Given the description of an element on the screen output the (x, y) to click on. 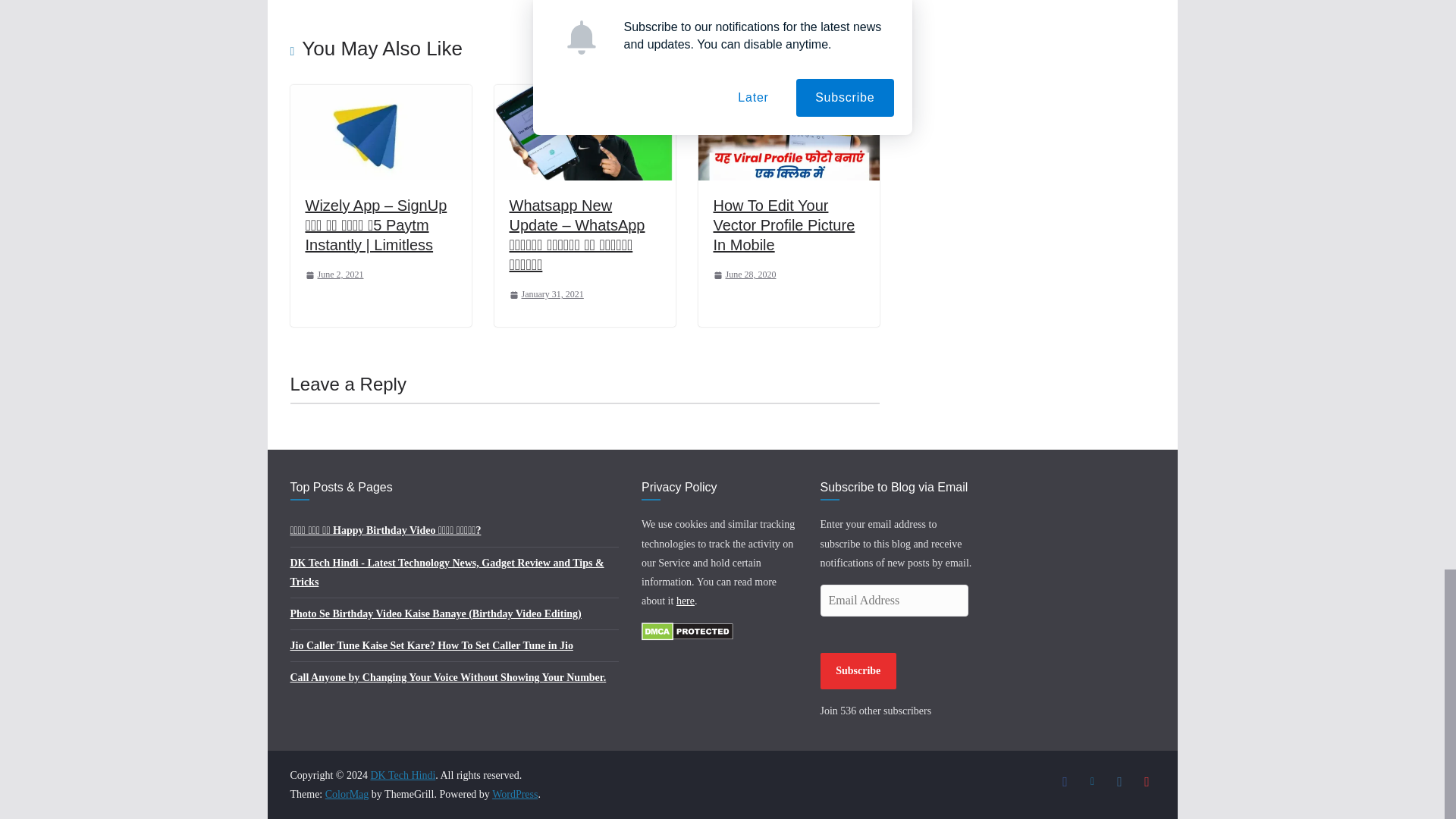
June 2, 2021 (333, 274)
January 31, 2021 (546, 294)
